Given the description of an element on the screen output the (x, y) to click on. 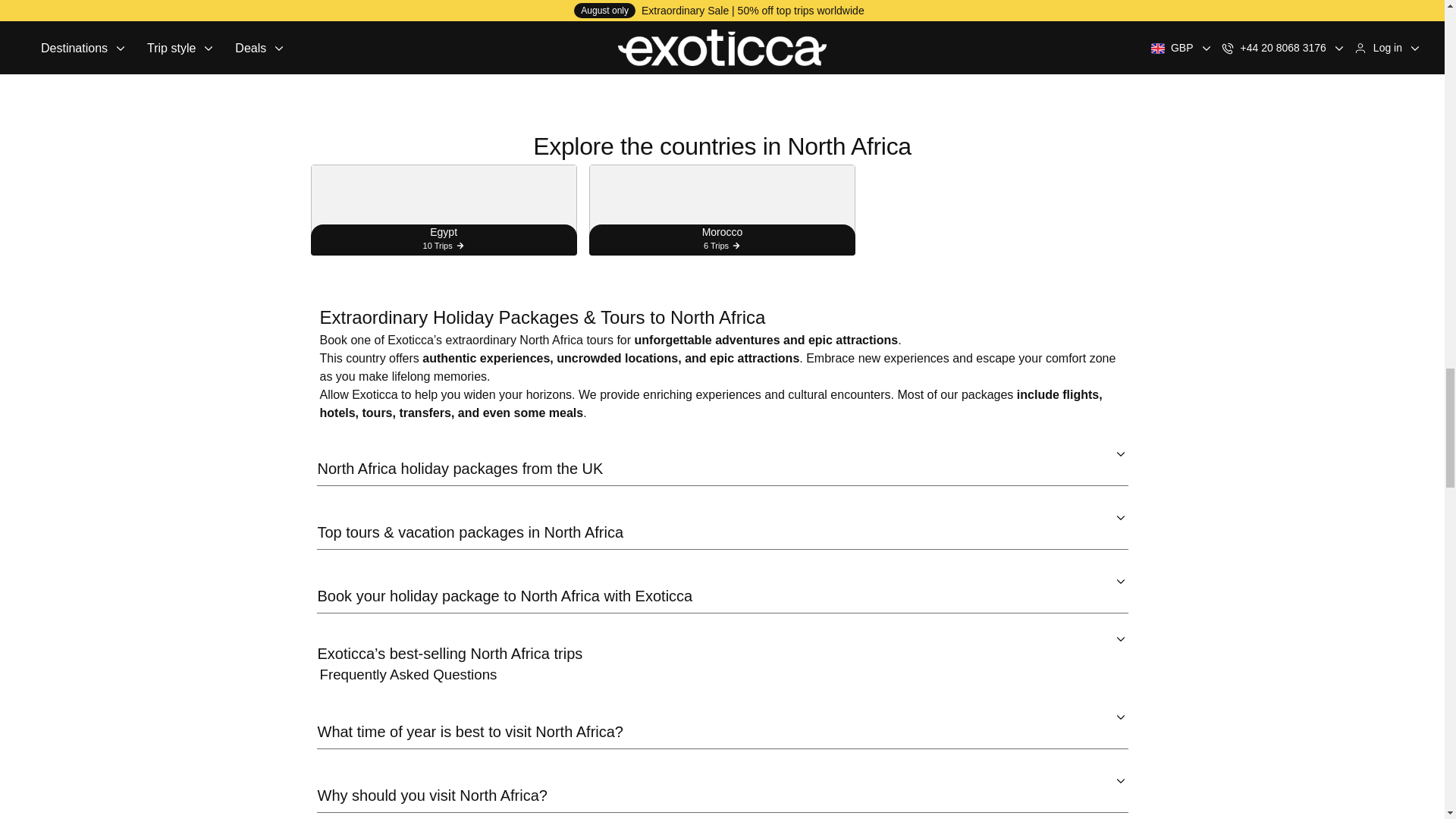
arrow-icon (1119, 780)
arrow-icon (1119, 581)
arrow-icon (1119, 716)
arrow-icon (1119, 639)
arrow-icon (1119, 517)
arrow-icon (1119, 454)
